Given the description of an element on the screen output the (x, y) to click on. 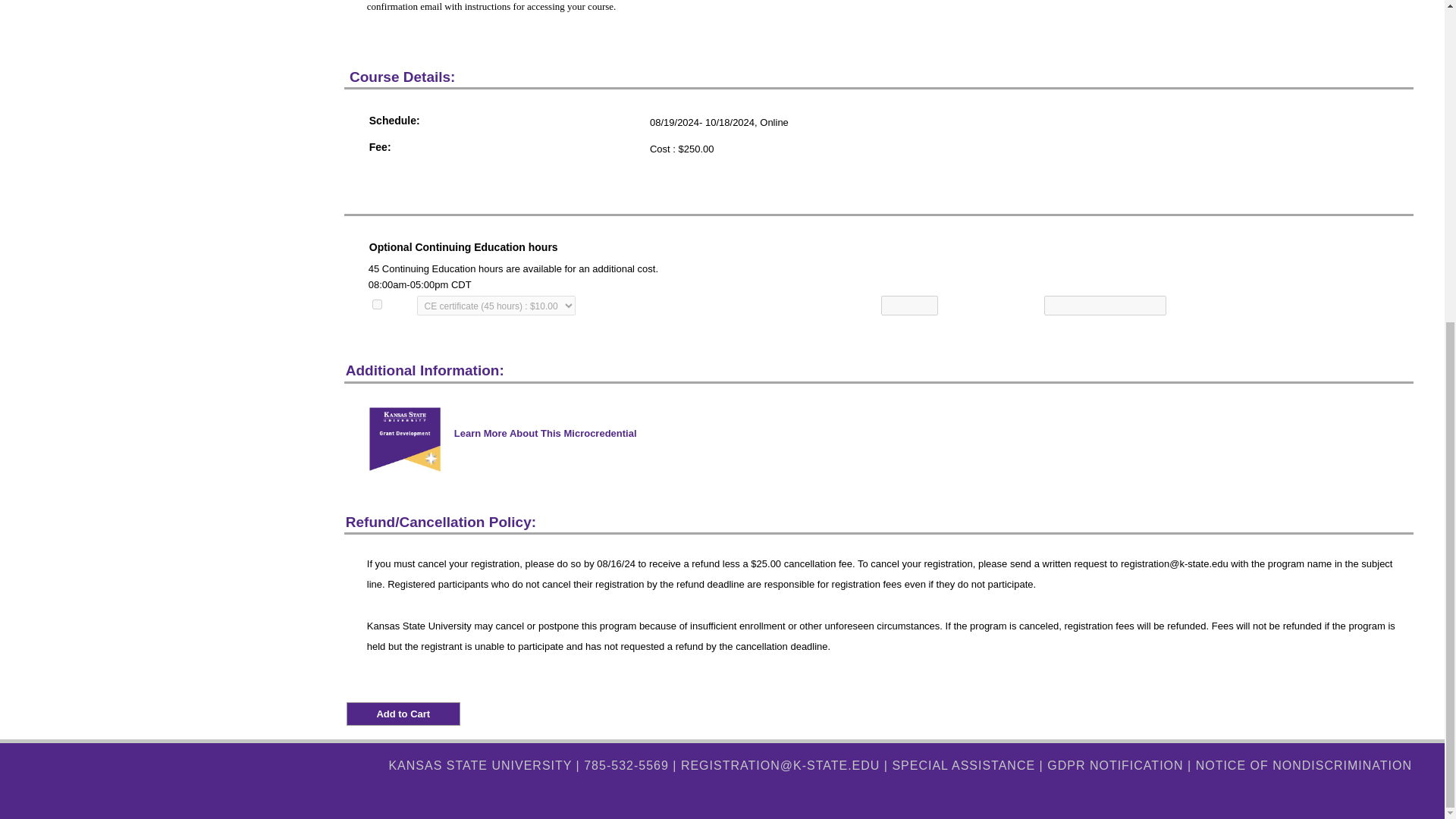
422407C:CE (376, 304)
Add to Cart (403, 713)
GDPR NOTIFICATION (1114, 765)
Add to Cart (403, 713)
Learn More About This Microcredential (545, 429)
SPECIAL ASSISTANCE (963, 765)
Price (495, 305)
NOTICE OF NONDISCRIMINATION (1303, 765)
